Given the description of an element on the screen output the (x, y) to click on. 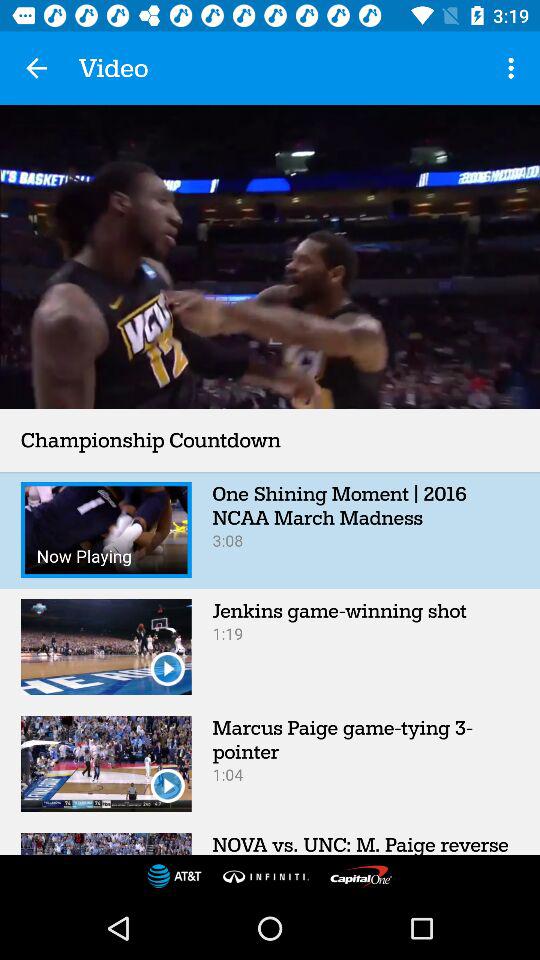
open app to the left of video item (36, 68)
